Given the description of an element on the screen output the (x, y) to click on. 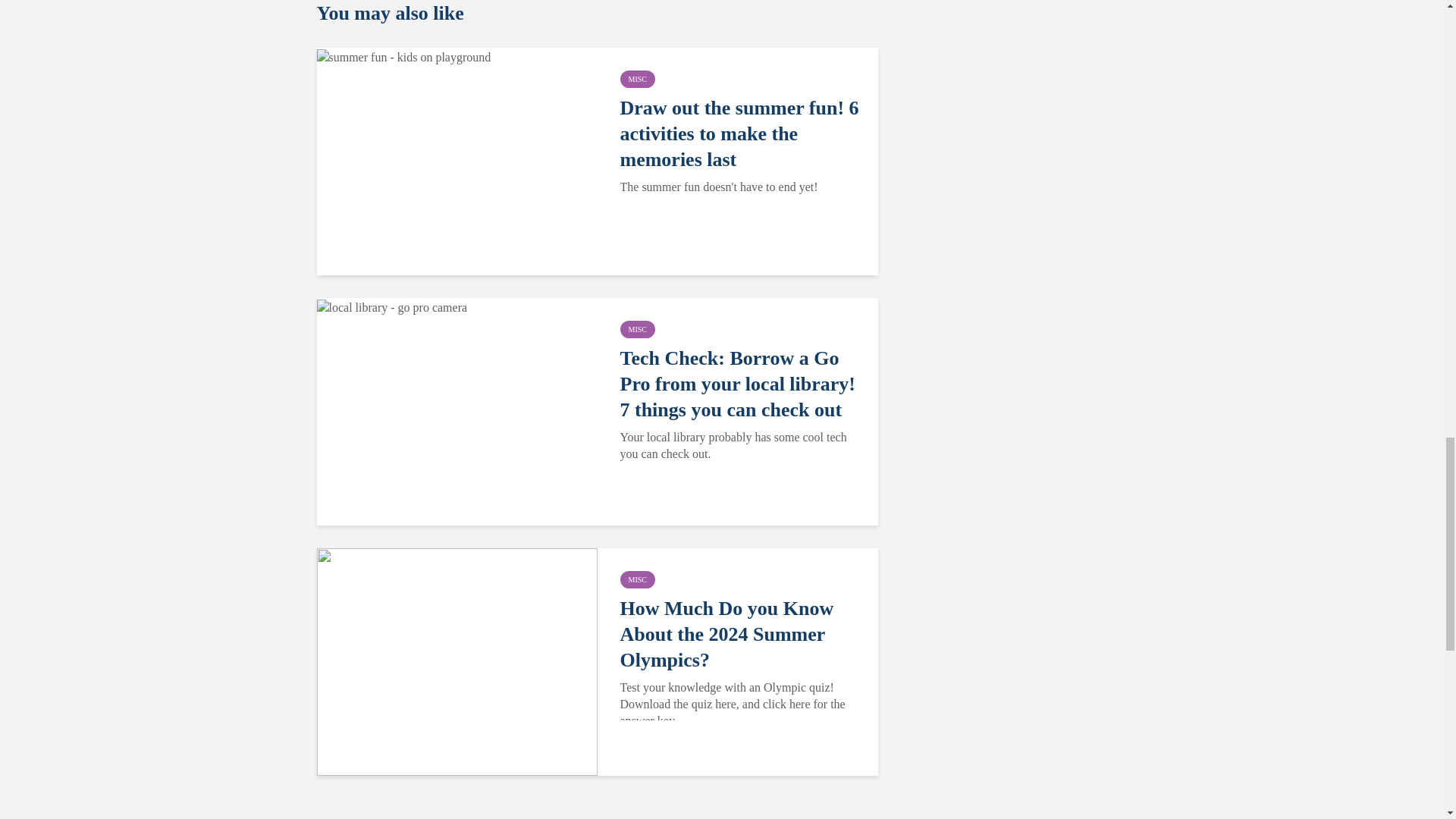
MISC (637, 78)
MISC (637, 329)
How Much Do you Know About the 2024 Summer Olympics? (740, 634)
How Much Do you Know About the 2024 Summer Olympics? (456, 660)
MISC (637, 579)
